Given the description of an element on the screen output the (x, y) to click on. 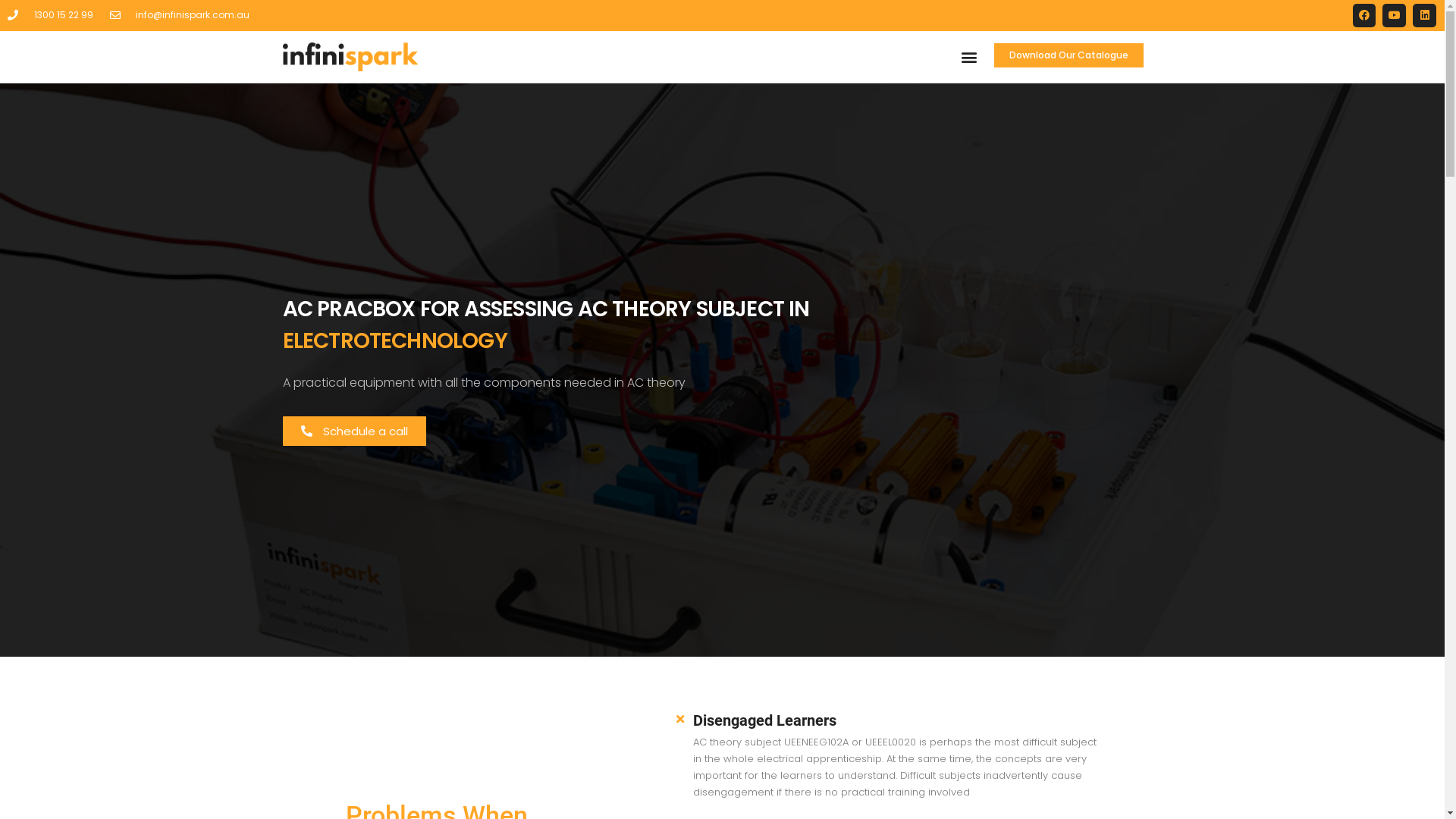
Schedule a call Element type: text (353, 430)
Download Our Catalogue Element type: text (1068, 55)
